Given the description of an element on the screen output the (x, y) to click on. 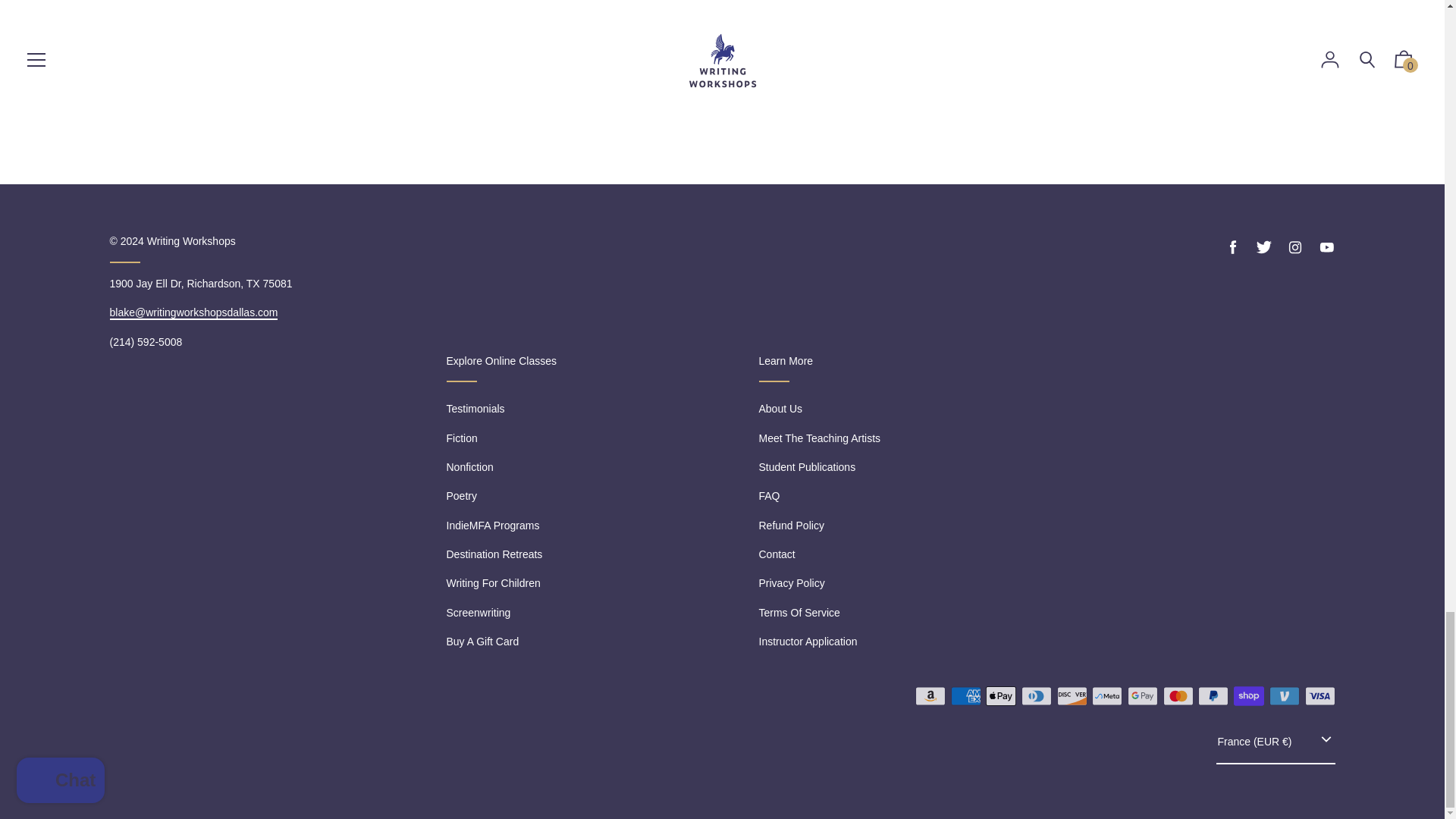
Mastercard (1178, 695)
Meta Pay (1107, 695)
Diners Club (1036, 695)
PayPal (1213, 695)
Writing Workshops on Twitter (1263, 247)
Writing Workshops on Facebook (1232, 247)
Venmo (1284, 695)
Writing Workshops on YouTube (1326, 247)
Google Pay (1141, 695)
Amazon (929, 695)
